Given the description of an element on the screen output the (x, y) to click on. 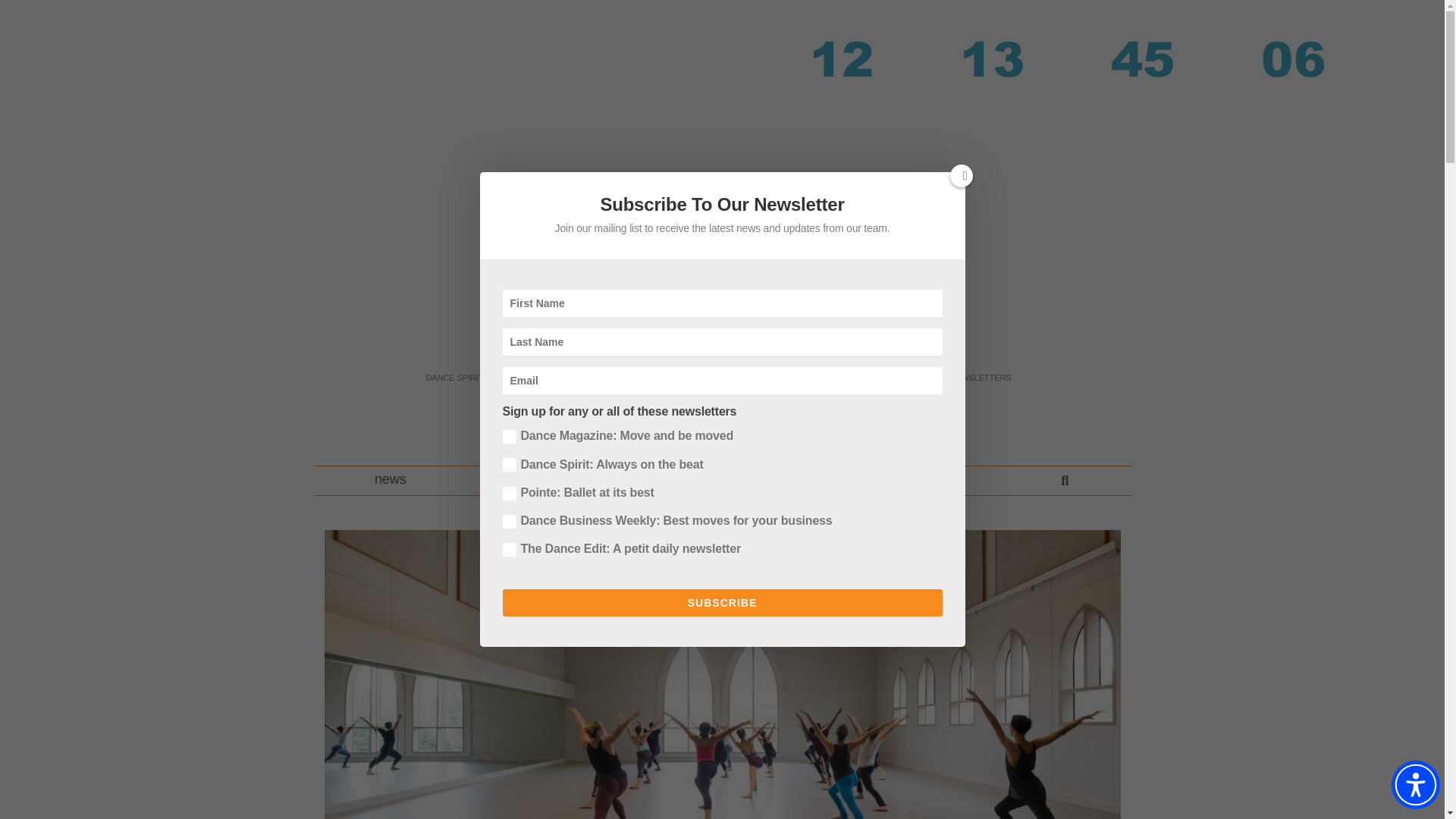
POINTE MAGAZINE (625, 377)
subscribe (934, 480)
DANCE SPIRIT (454, 377)
guides (658, 480)
EVENTS CALENDAR (807, 377)
THE DANCE EDIT (715, 377)
more (791, 480)
COLLEGE GUIDE (897, 377)
NEWSLETTERS (980, 377)
career (522, 480)
Accessibility Menu (1415, 784)
DANCE TEACHER (535, 377)
news (390, 480)
